Given the description of an element on the screen output the (x, y) to click on. 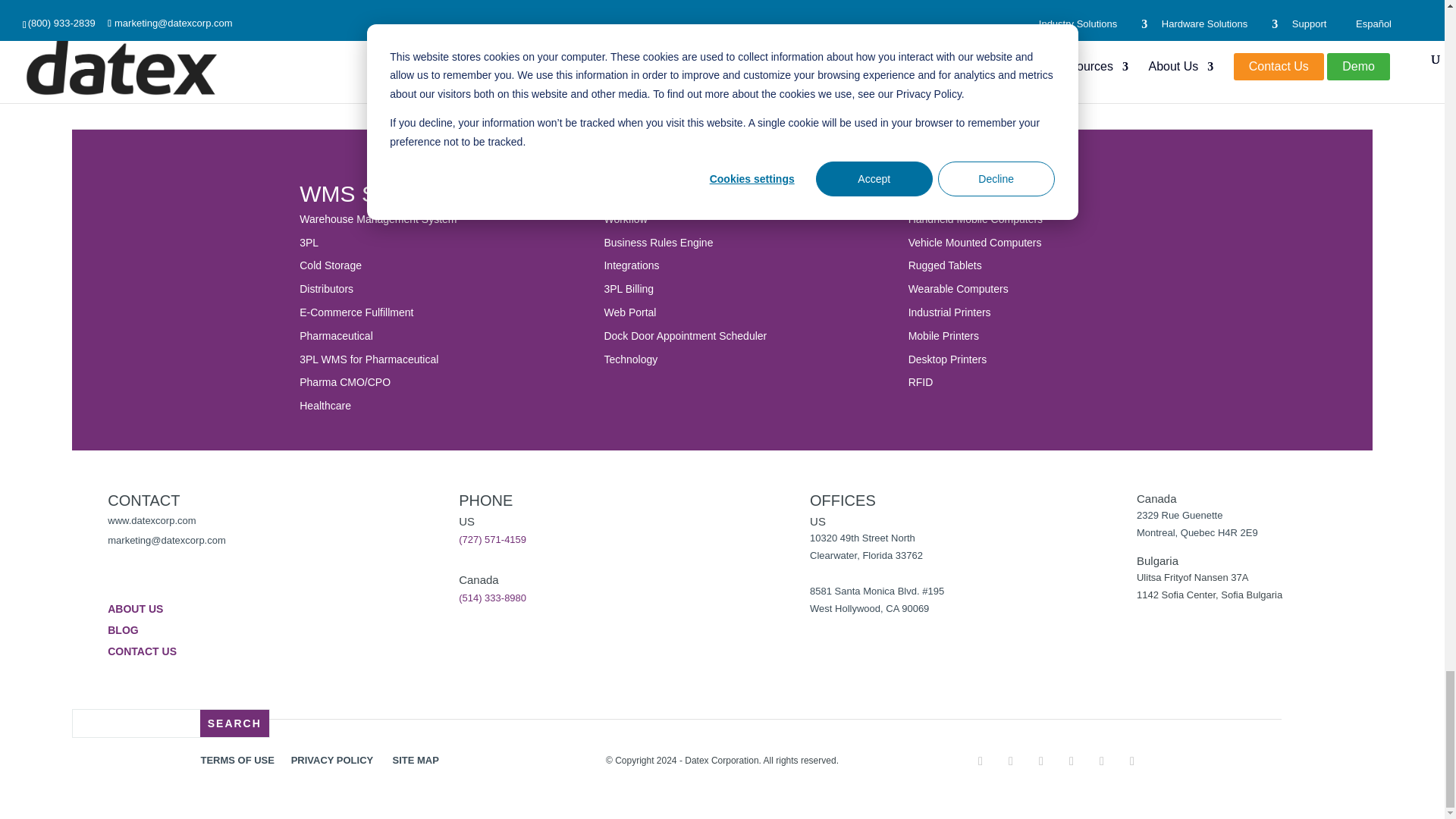
Follow on Pinterest (1040, 761)
Search (234, 723)
Follow on Youtube (1131, 761)
Follow on Instagram (1101, 761)
Follow on LinkedIn (1071, 761)
Search (234, 723)
Follow on Twitter (1010, 761)
Follow on Facebook (980, 761)
